Given the description of an element on the screen output the (x, y) to click on. 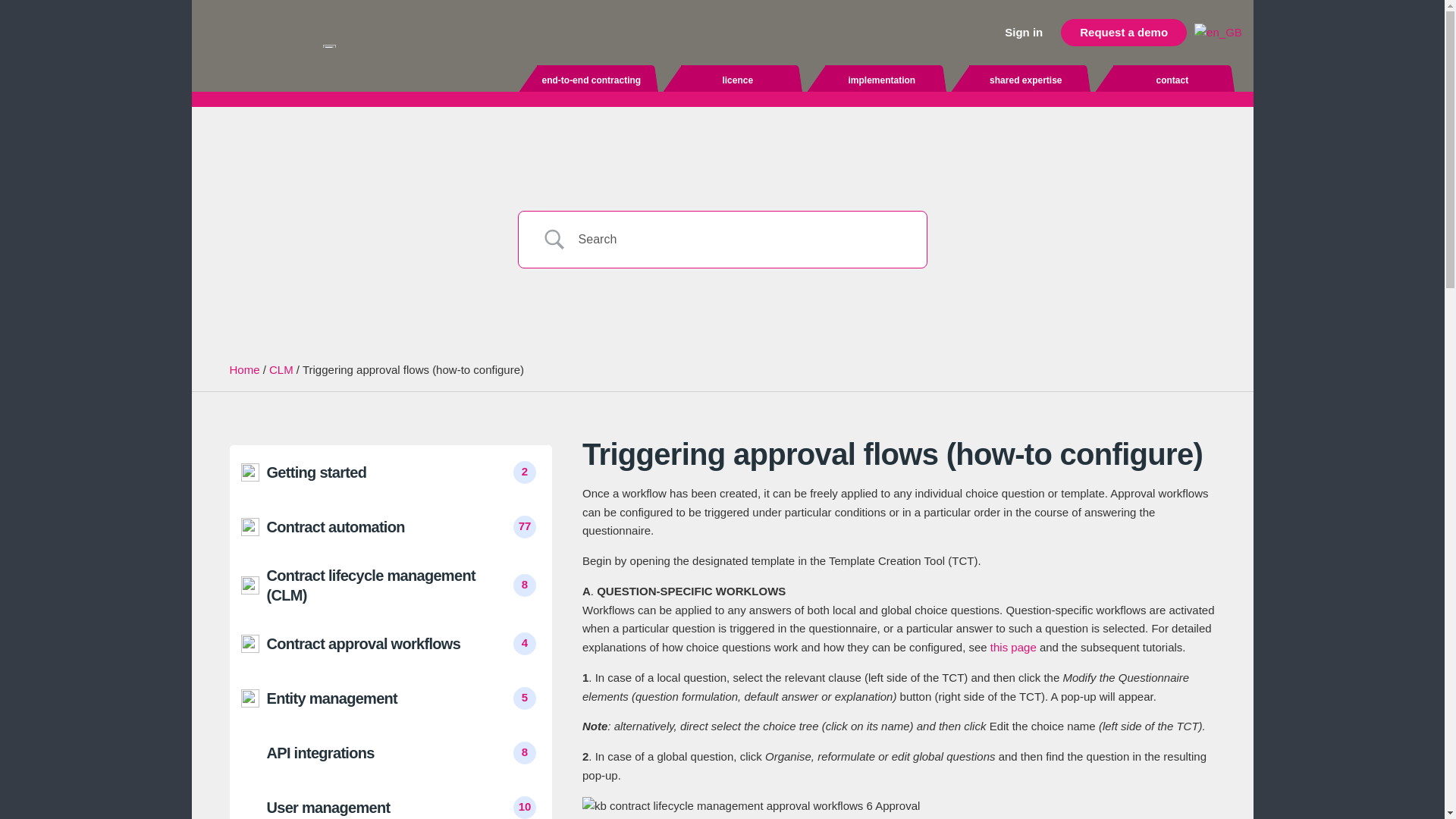
end-to-end contracting (591, 80)
Sign in (1024, 32)
implementation (881, 80)
licence (737, 80)
